Given the description of an element on the screen output the (x, y) to click on. 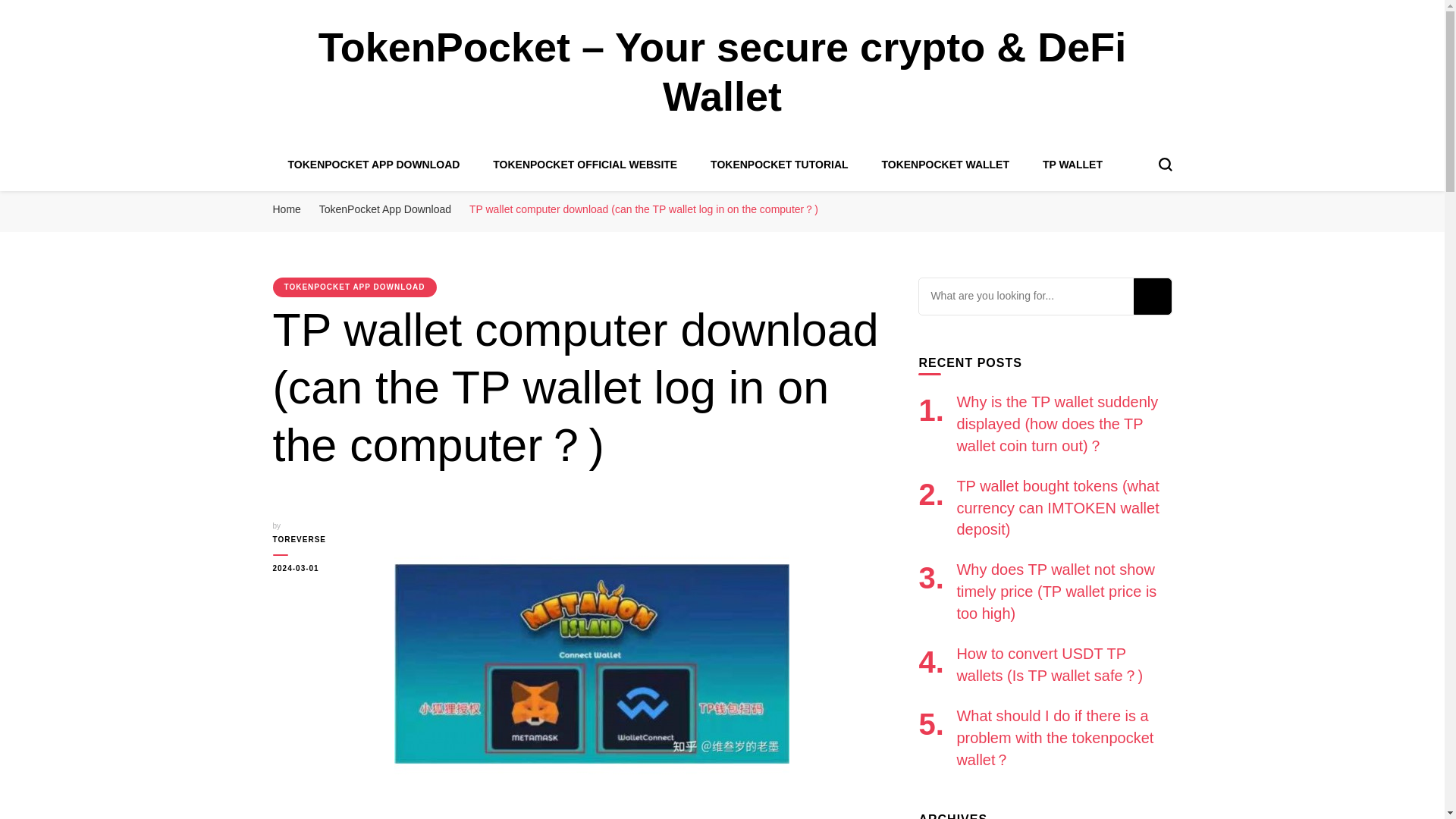
Home (287, 209)
TOKENPOCKET APP DOWNLOAD (354, 287)
Search (1151, 296)
TOREVERSE (322, 540)
TOKENPOCKET WALLET (944, 164)
TOKENPOCKET OFFICIAL WEBSITE (585, 164)
Search (1151, 296)
2024-03-01 (322, 568)
TOKENPOCKET TUTORIAL (779, 164)
TP WALLET (1072, 164)
